Given the description of an element on the screen output the (x, y) to click on. 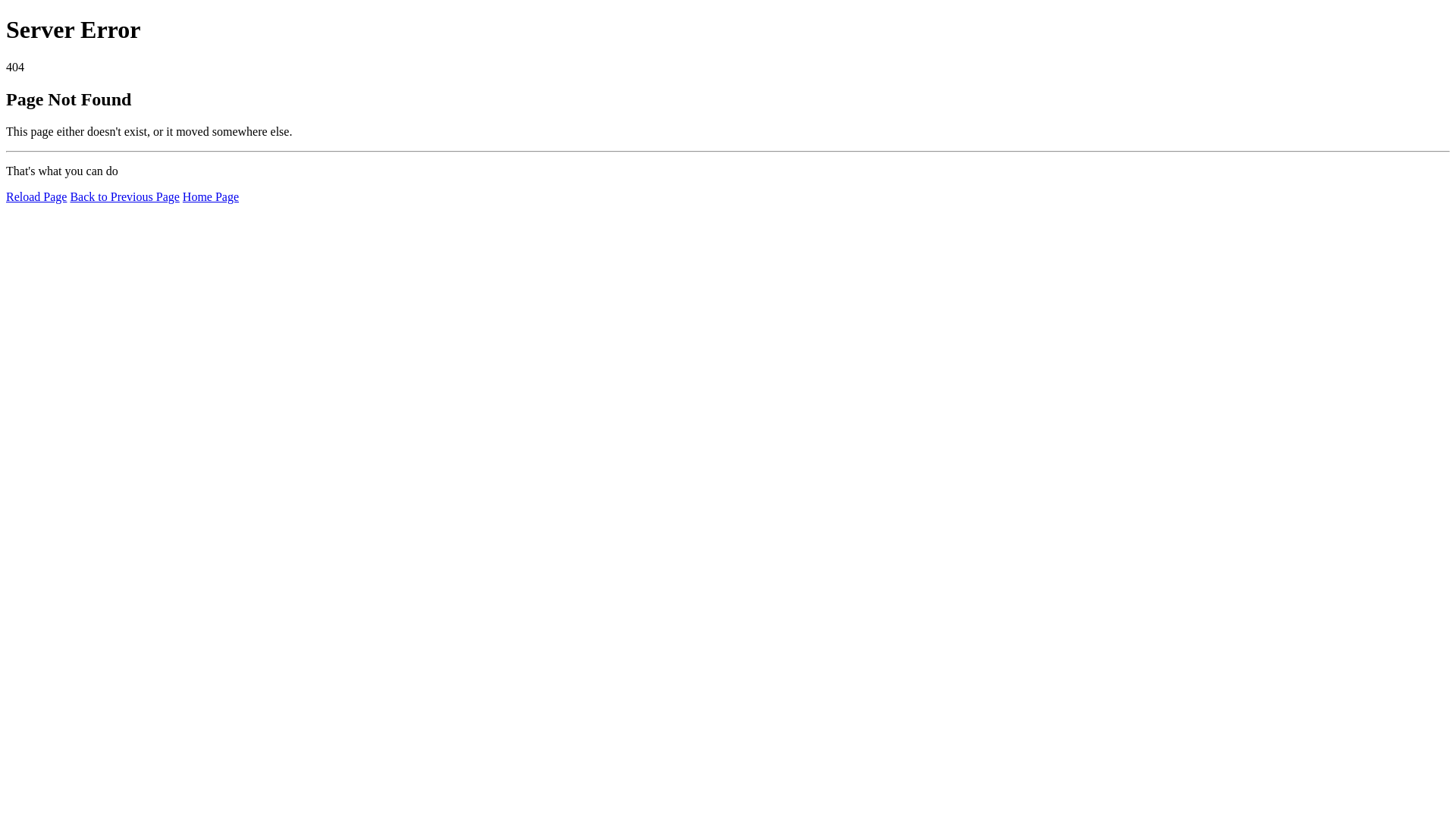
Reload Page Element type: text (36, 196)
Home Page Element type: text (210, 196)
Back to Previous Page Element type: text (123, 196)
